Given the description of an element on the screen output the (x, y) to click on. 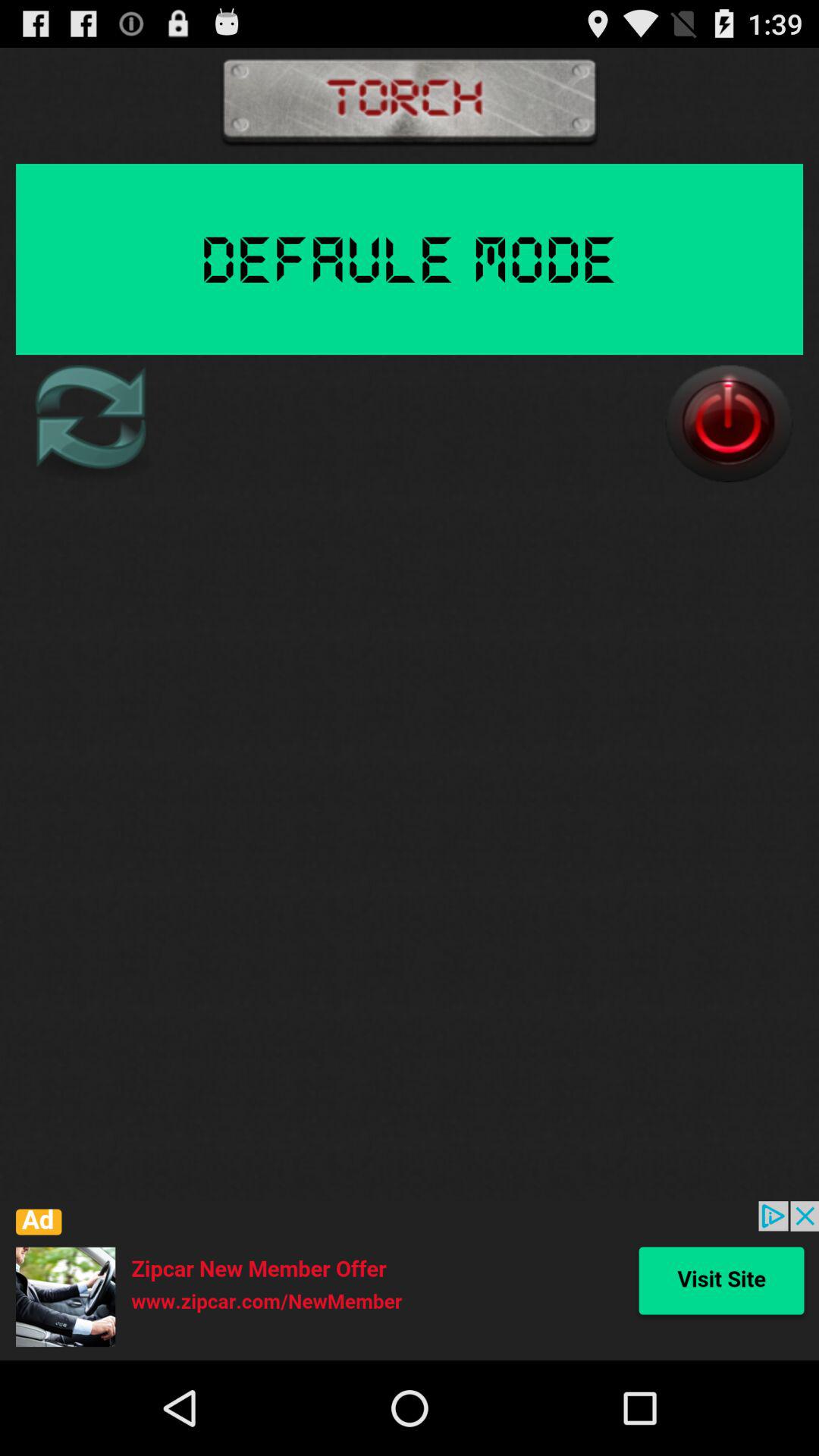
refresh (89, 423)
